Given the description of an element on the screen output the (x, y) to click on. 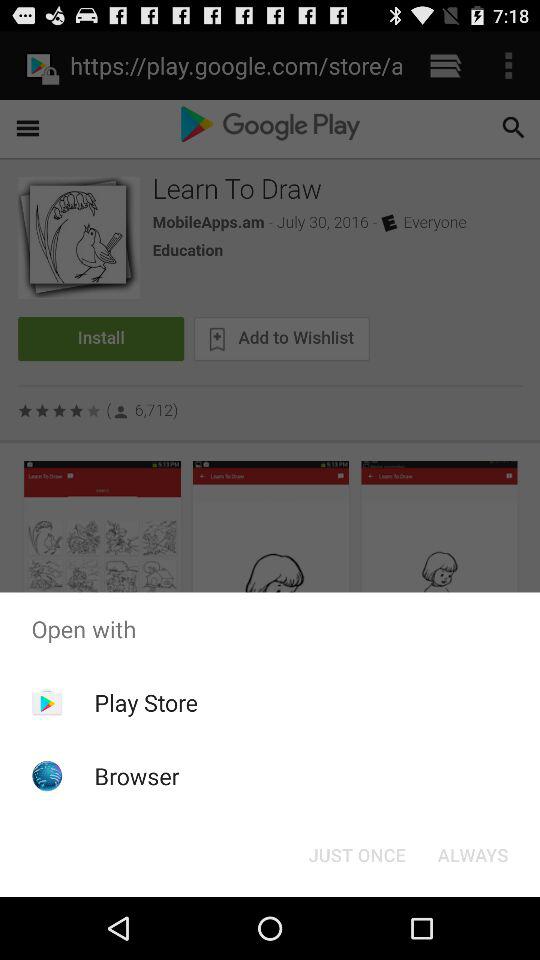
swipe to play store app (146, 702)
